Given the description of an element on the screen output the (x, y) to click on. 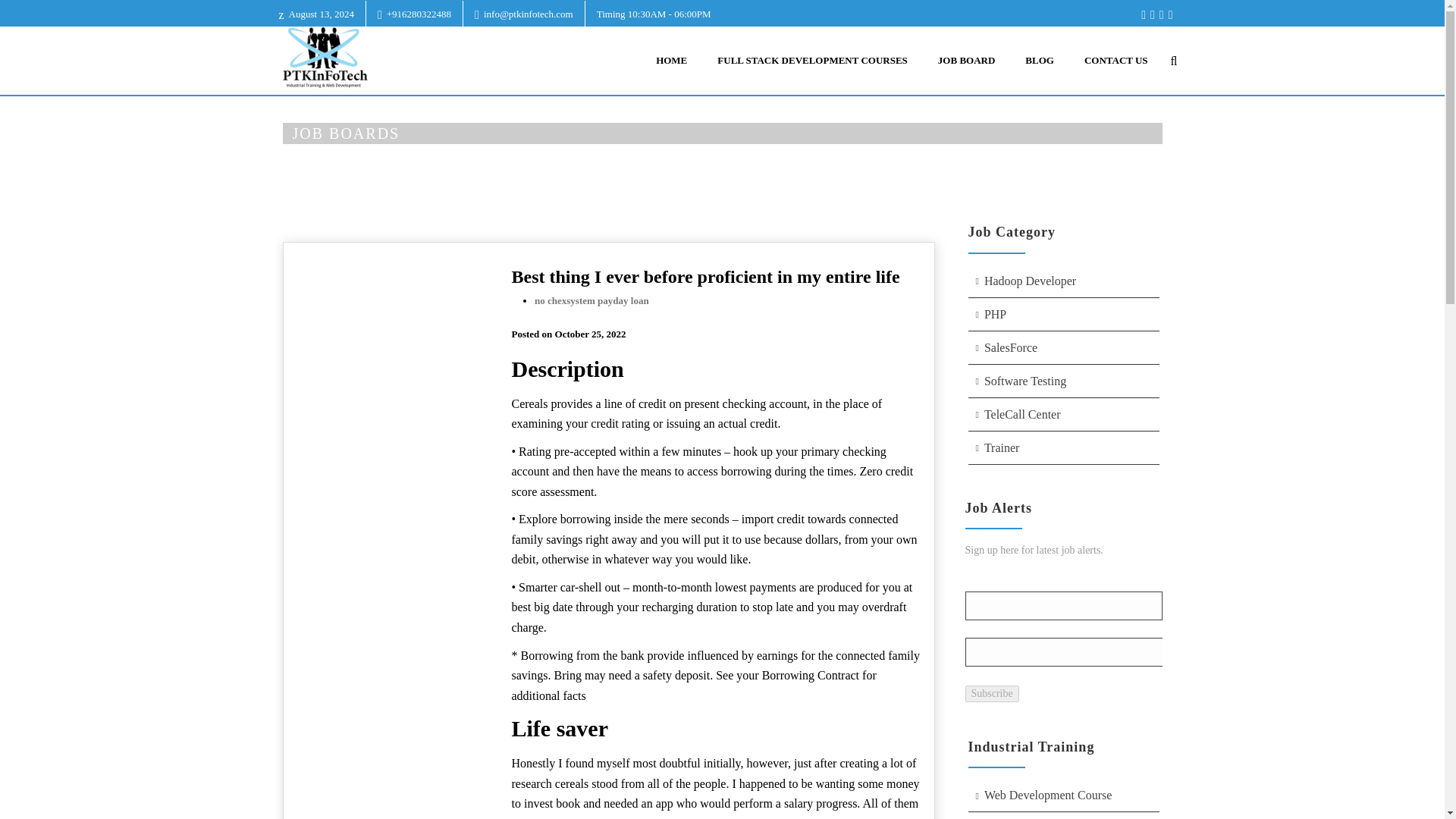
Web Designing Course (1063, 816)
Trainer (1063, 448)
Subscribe (990, 693)
FULL STACK DEVELOPMENT COURSES (812, 60)
HOME (989, 166)
JOB BOARD (966, 60)
Software Testing (1063, 381)
Hadoop Developer (1063, 281)
Subscribe (990, 693)
HOME (670, 60)
